Given the description of an element on the screen output the (x, y) to click on. 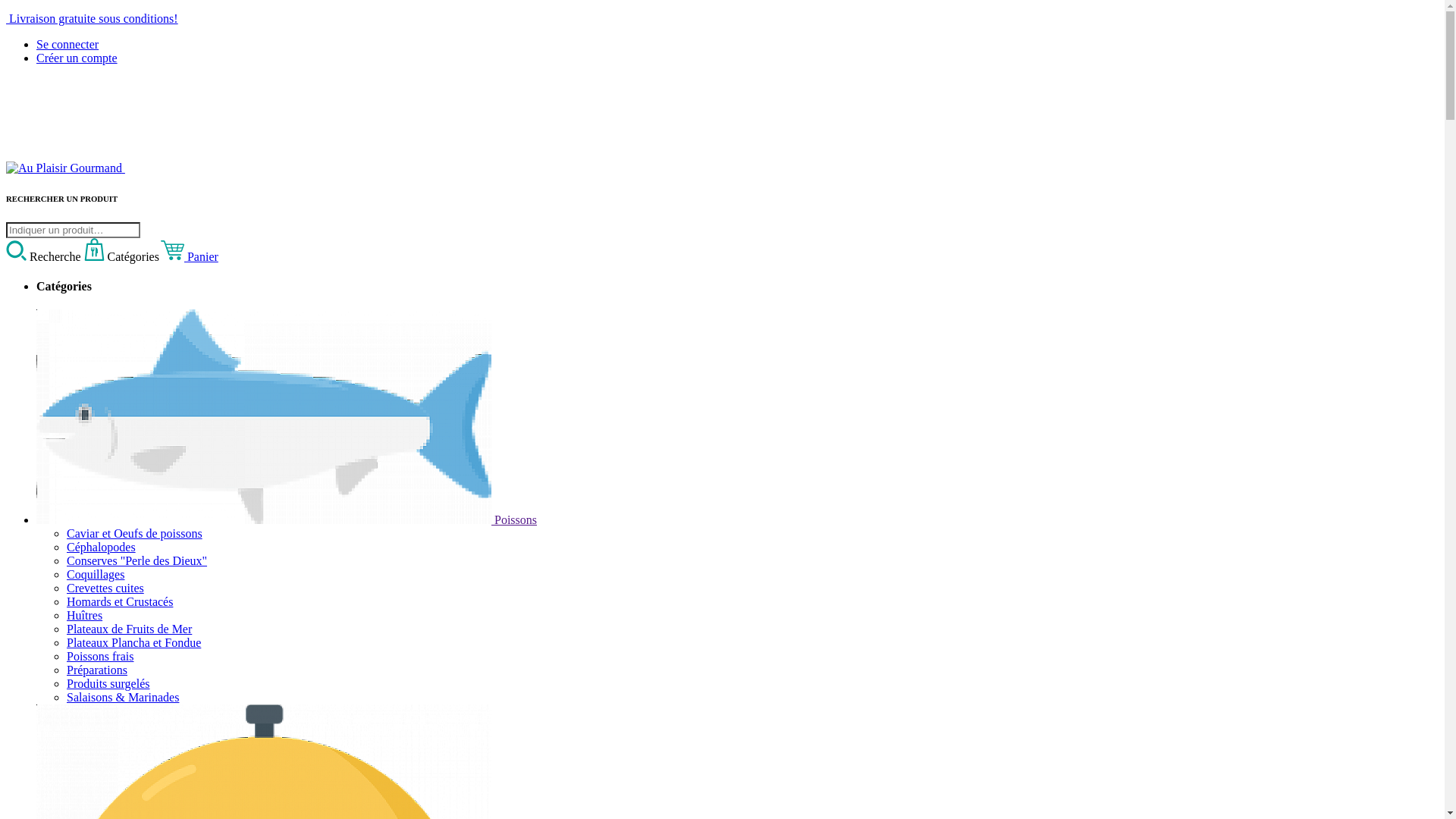
Poissons Element type: text (286, 519)
Crevettes cuites Element type: text (105, 587)
Salaisons & Marinades Element type: text (122, 696)
Recherche Element type: text (45, 256)
Poissons frais Element type: text (99, 655)
Livraison gratuite sous conditions! Element type: text (722, 18)
Coquillages Element type: text (95, 573)
Caviar et Oeufs de poissons Element type: text (134, 533)
Plateaux de Fruits de Mer Element type: text (128, 628)
Plateaux Plancha et Fondue Element type: text (133, 642)
Se connecter Element type: text (67, 43)
Conserves "Perle des Dieux" Element type: text (136, 560)
Panier Element type: text (190, 256)
